Given the description of an element on the screen output the (x, y) to click on. 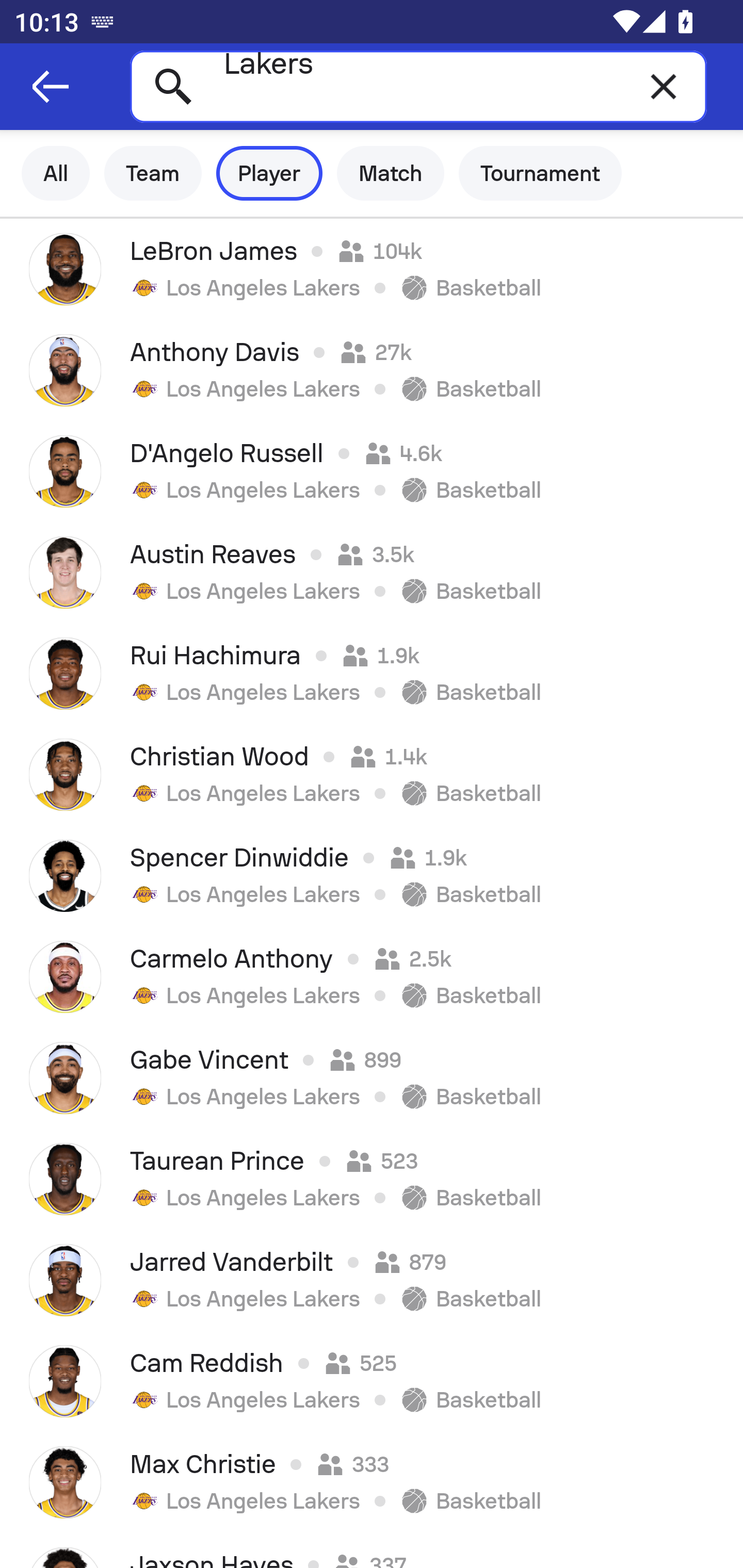
Navigate up (50, 86)
Lakers
 (418, 86)
Clear text (663, 86)
All (55, 172)
Team (152, 172)
Player (268, 172)
Match (390, 172)
Tournament (540, 172)
LeBron James 104k Los Angeles Lakers Basketball (371, 268)
Anthony Davis 27k Los Angeles Lakers Basketball (371, 369)
Austin Reaves 3.5k Los Angeles Lakers Basketball (371, 572)
Rui Hachimura 1.9k Los Angeles Lakers Basketball (371, 673)
Christian Wood 1.4k Los Angeles Lakers Basketball (371, 774)
Carmelo Anthony 2.5k Los Angeles Lakers Basketball (371, 976)
Gabe Vincent 899 Los Angeles Lakers Basketball (371, 1077)
Taurean Prince 523 Los Angeles Lakers Basketball (371, 1178)
Cam Reddish 525 Los Angeles Lakers Basketball (371, 1381)
Max Christie 333 Los Angeles Lakers Basketball (371, 1482)
